Given the description of an element on the screen output the (x, y) to click on. 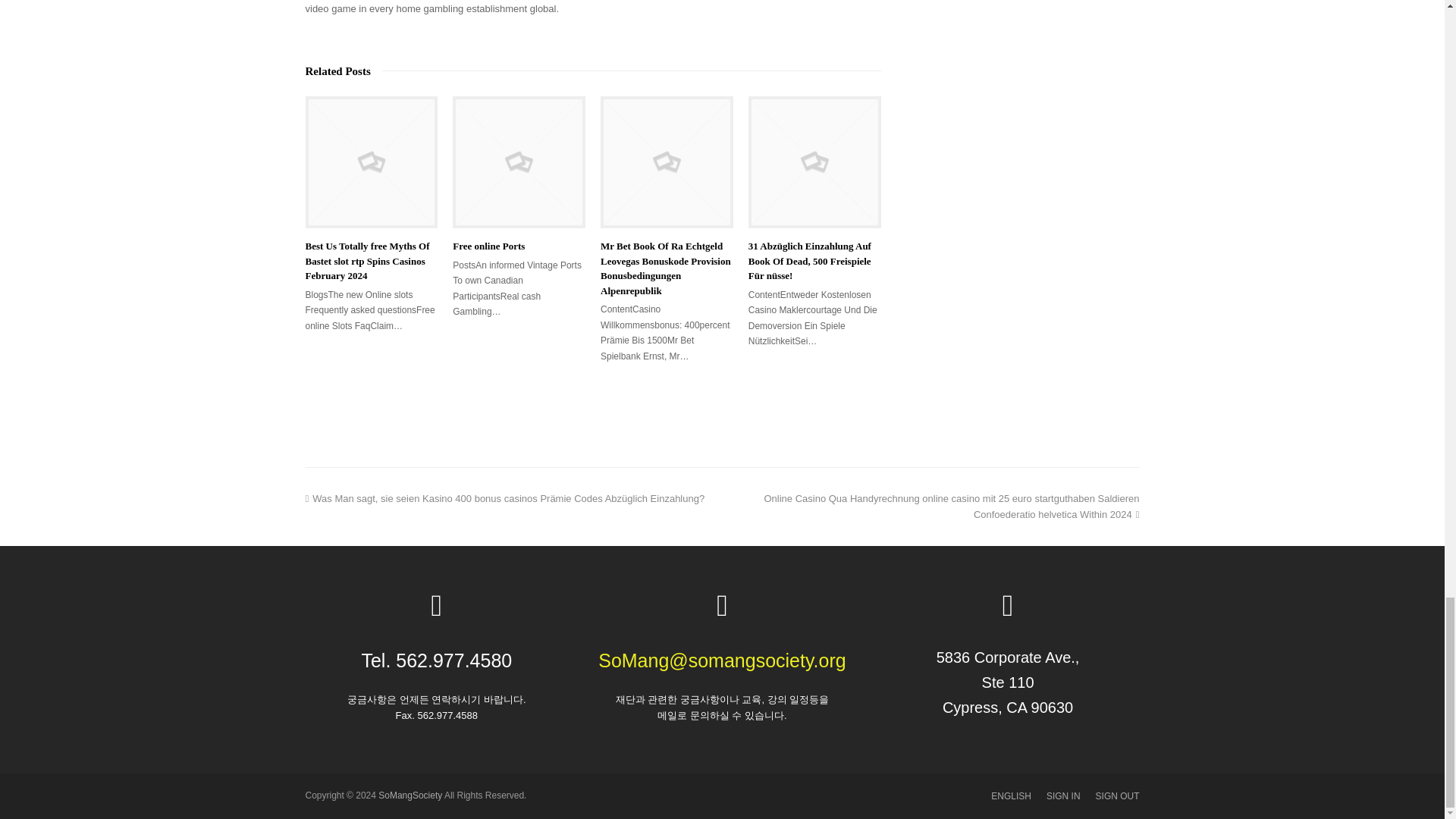
Free online Ports (518, 162)
